Given the description of an element on the screen output the (x, y) to click on. 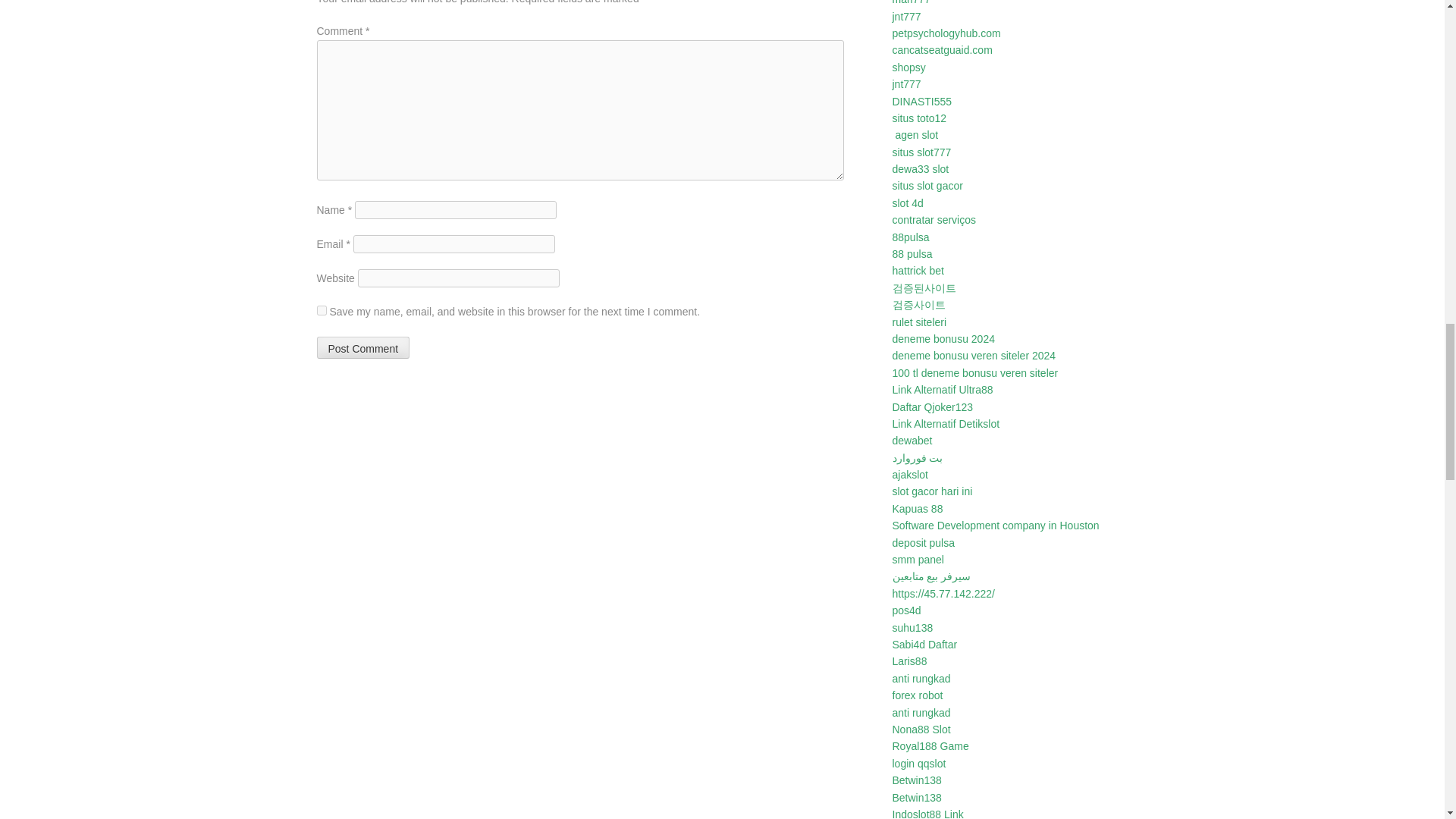
Post Comment (363, 347)
yes (321, 310)
Post Comment (363, 347)
